Given the description of an element on the screen output the (x, y) to click on. 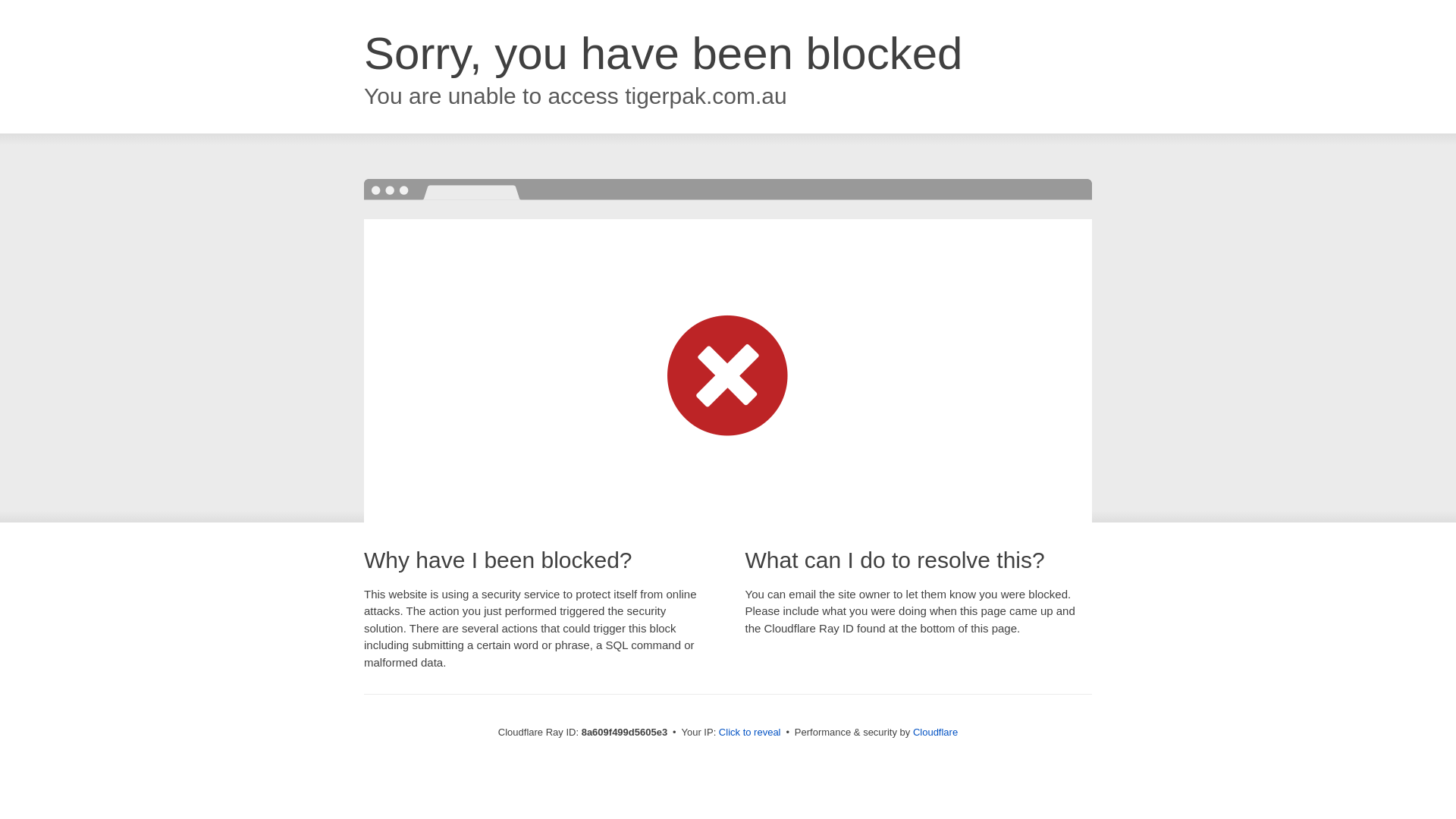
Cloudflare (935, 731)
Click to reveal (749, 732)
